Given the description of an element on the screen output the (x, y) to click on. 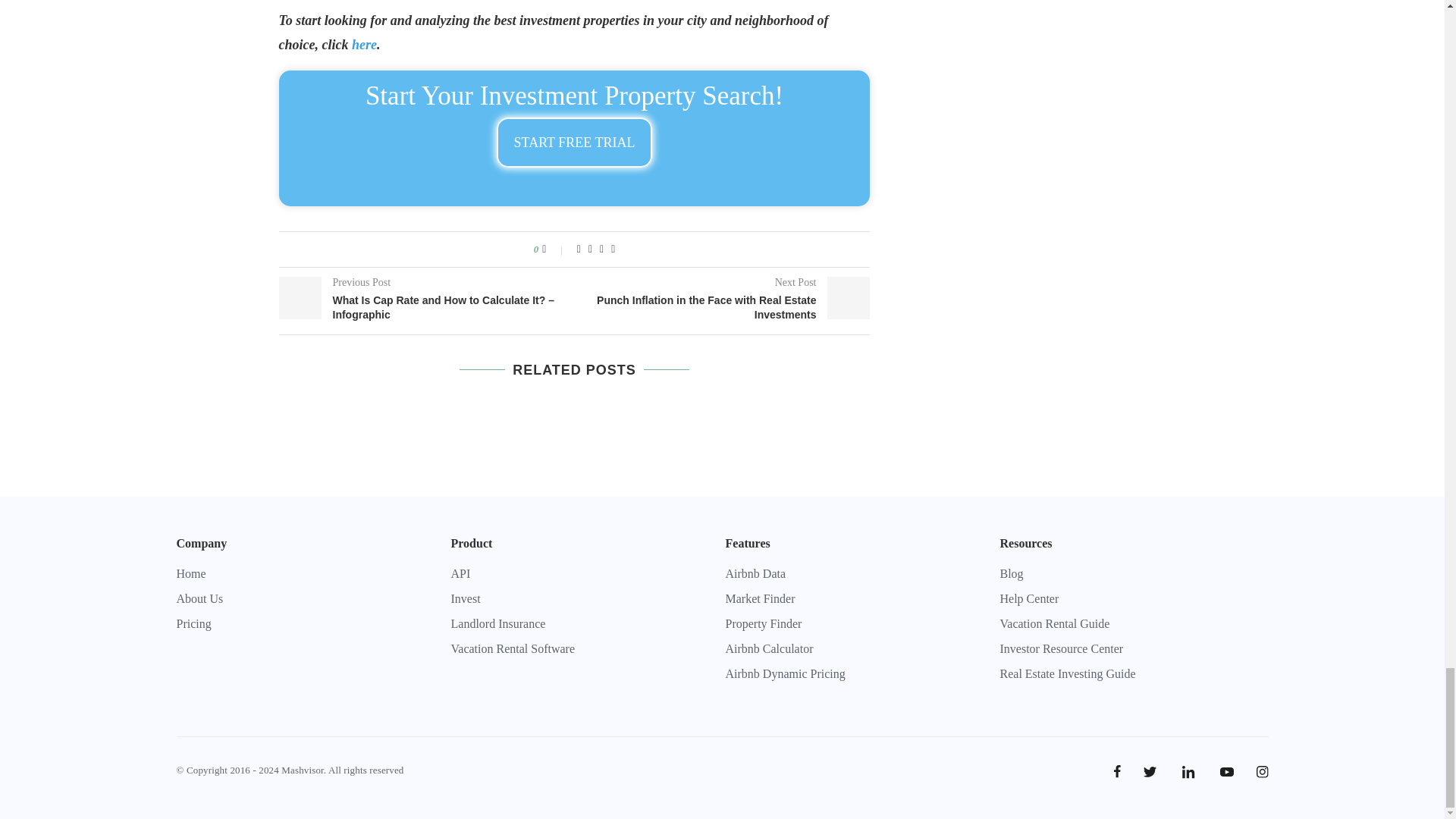
Like (553, 249)
